Given the description of an element on the screen output the (x, y) to click on. 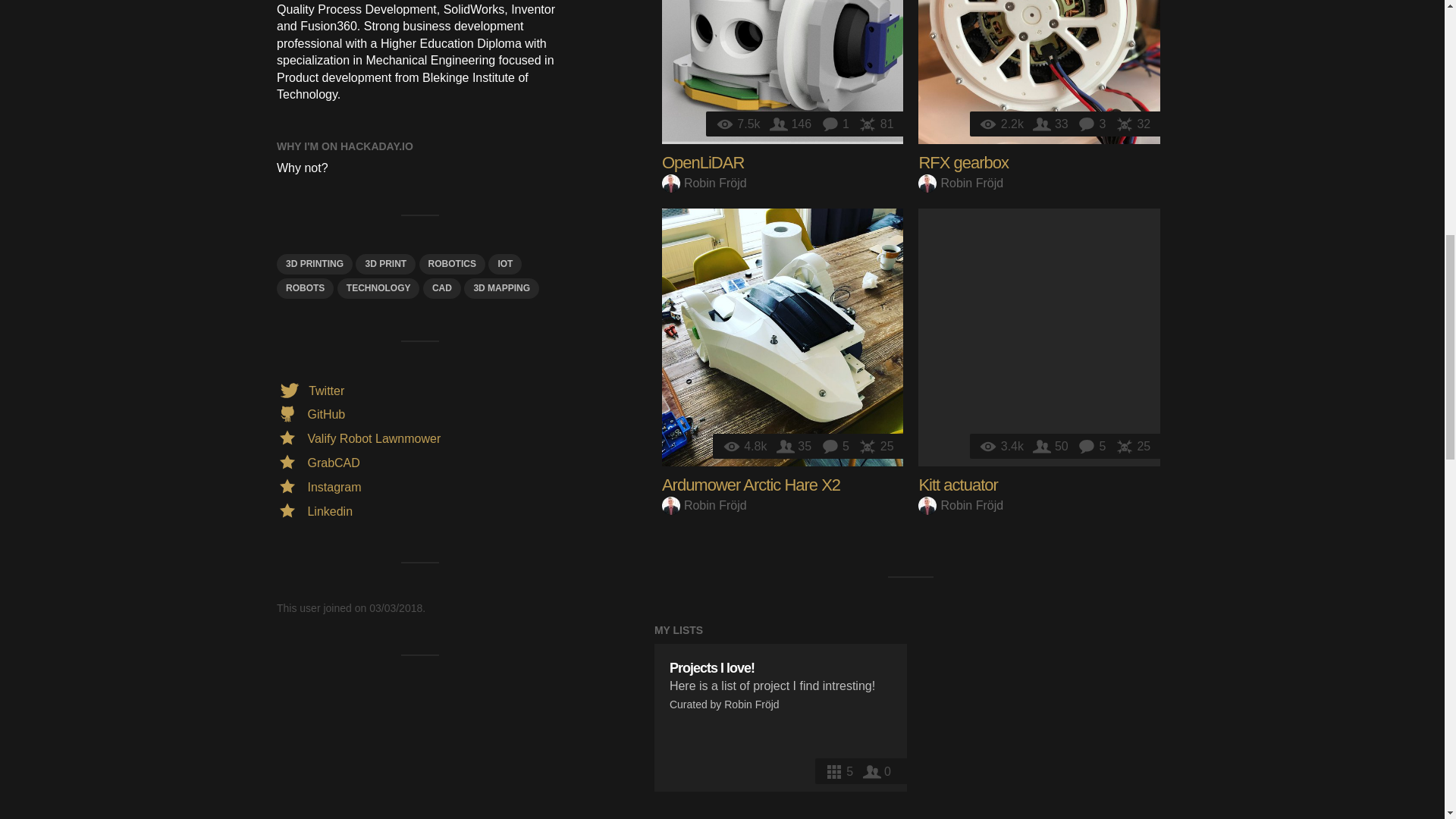
TECHNOLOGY (378, 288)
ROBOTICS (451, 263)
Followers (792, 123)
ROBOTS (304, 288)
3D PRINT (384, 263)
3D PRINTING (314, 263)
IOT (504, 263)
CAD (442, 288)
View Count (739, 123)
